Given the description of an element on the screen output the (x, y) to click on. 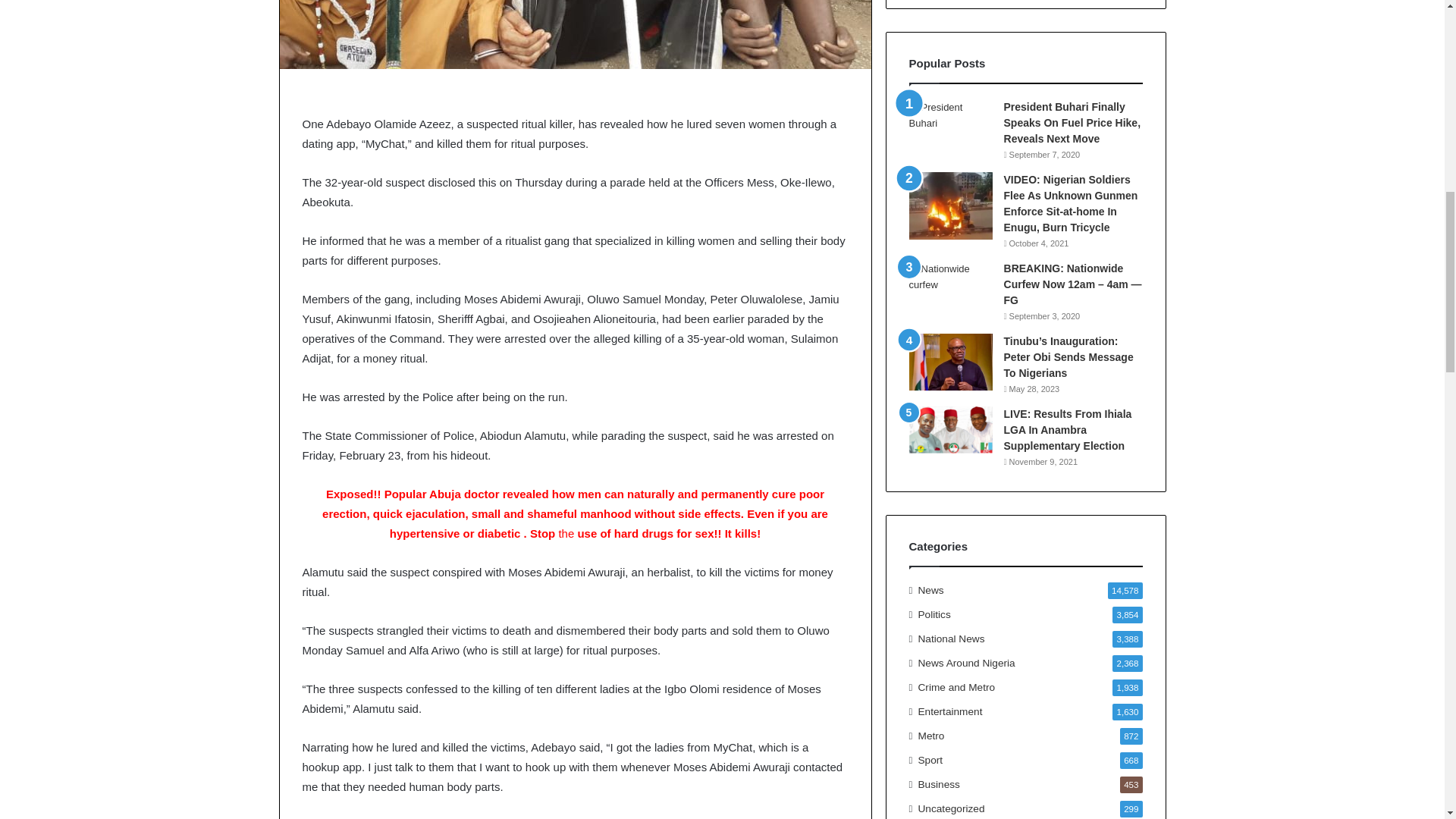
use of hard drugs for sex!! It kills! (666, 533)
the (565, 533)
